Given the description of an element on the screen output the (x, y) to click on. 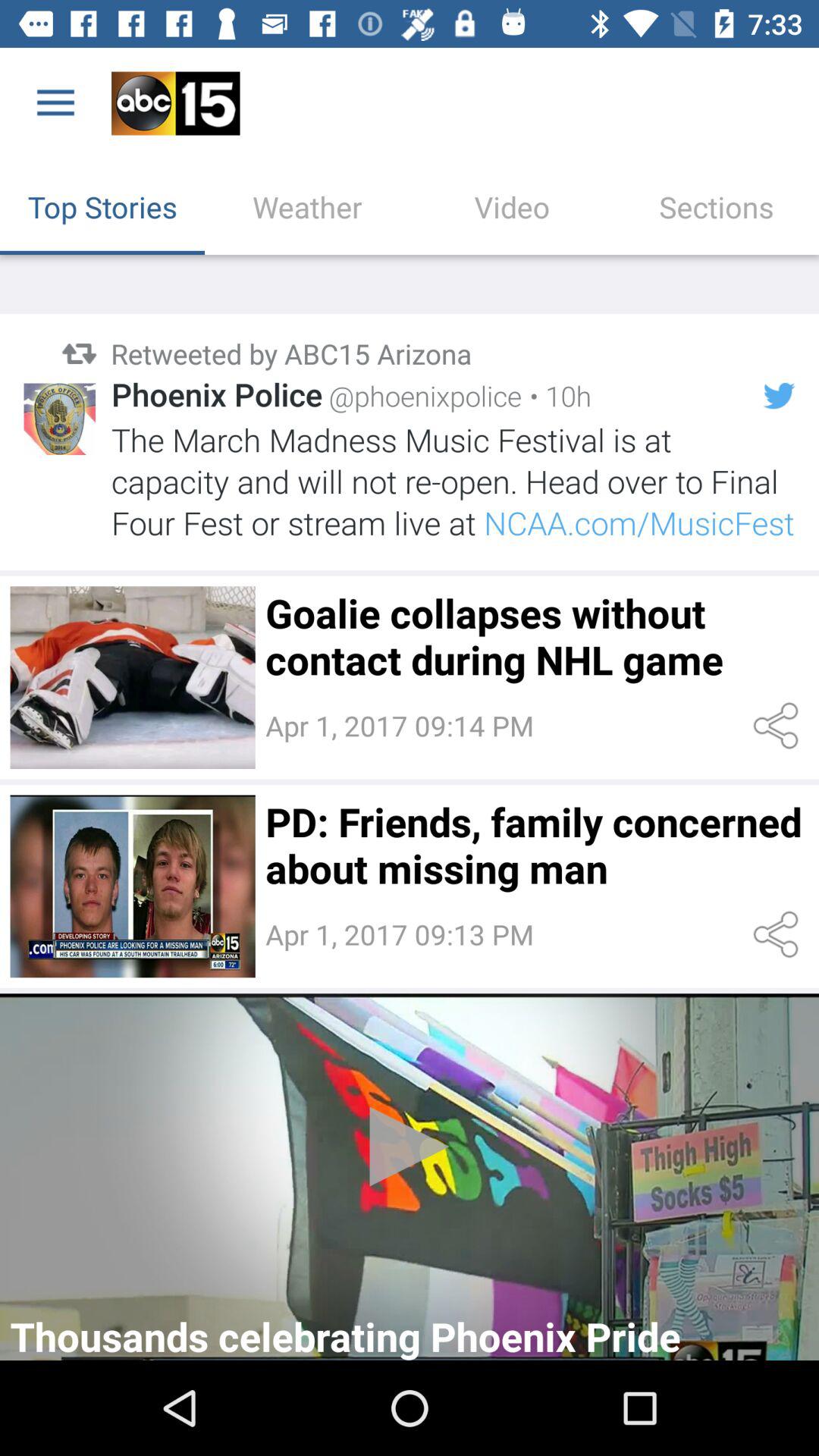
image button (132, 677)
